Given the description of an element on the screen output the (x, y) to click on. 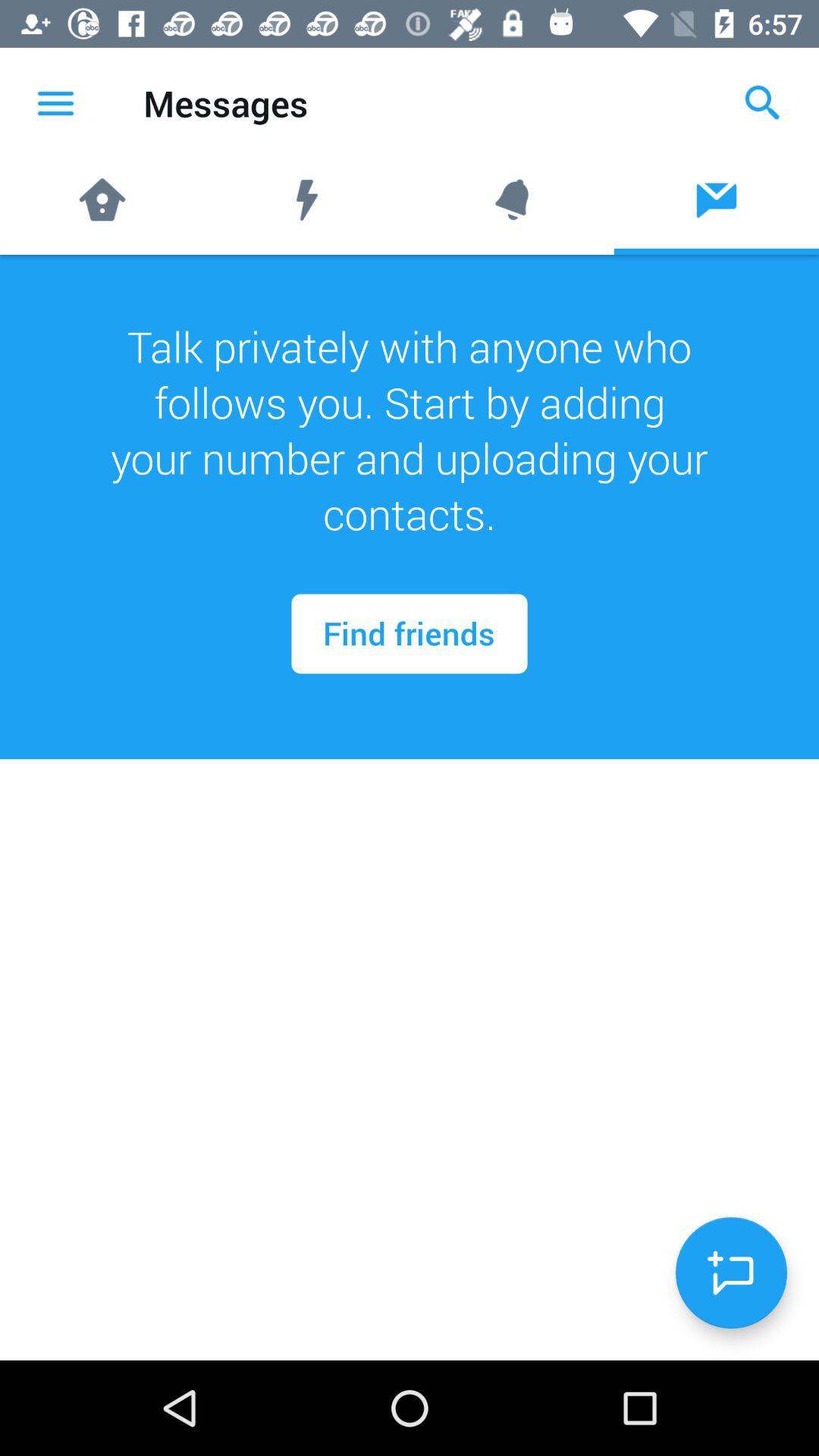
click icon below talk privately with (409, 633)
